Given the description of an element on the screen output the (x, y) to click on. 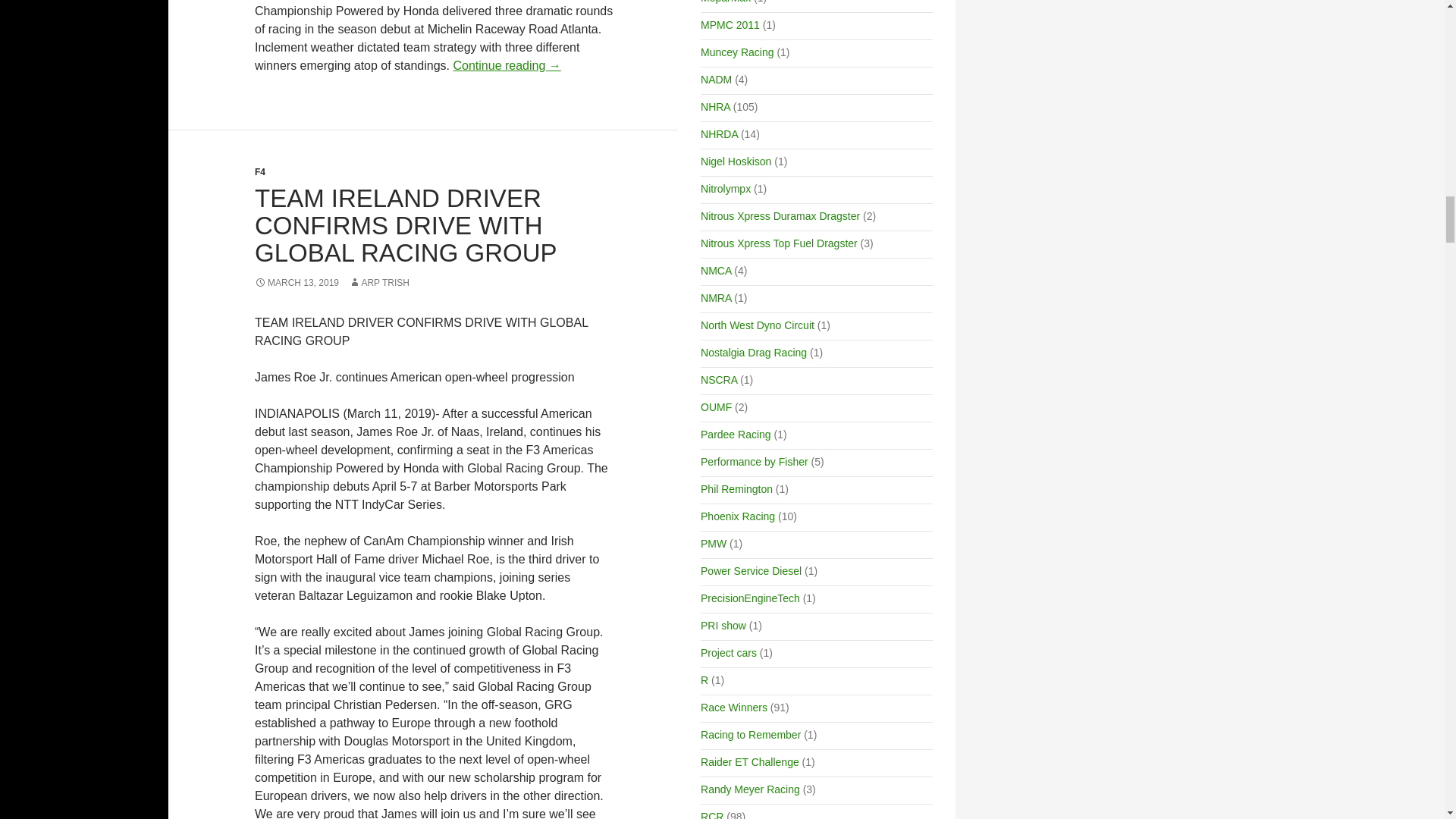
F4 (259, 172)
TEAM IRELAND DRIVER CONFIRMS DRIVE WITH GLOBAL RACING GROUP (405, 225)
MARCH 13, 2019 (296, 282)
ARP TRISH (379, 282)
